Given the description of an element on the screen output the (x, y) to click on. 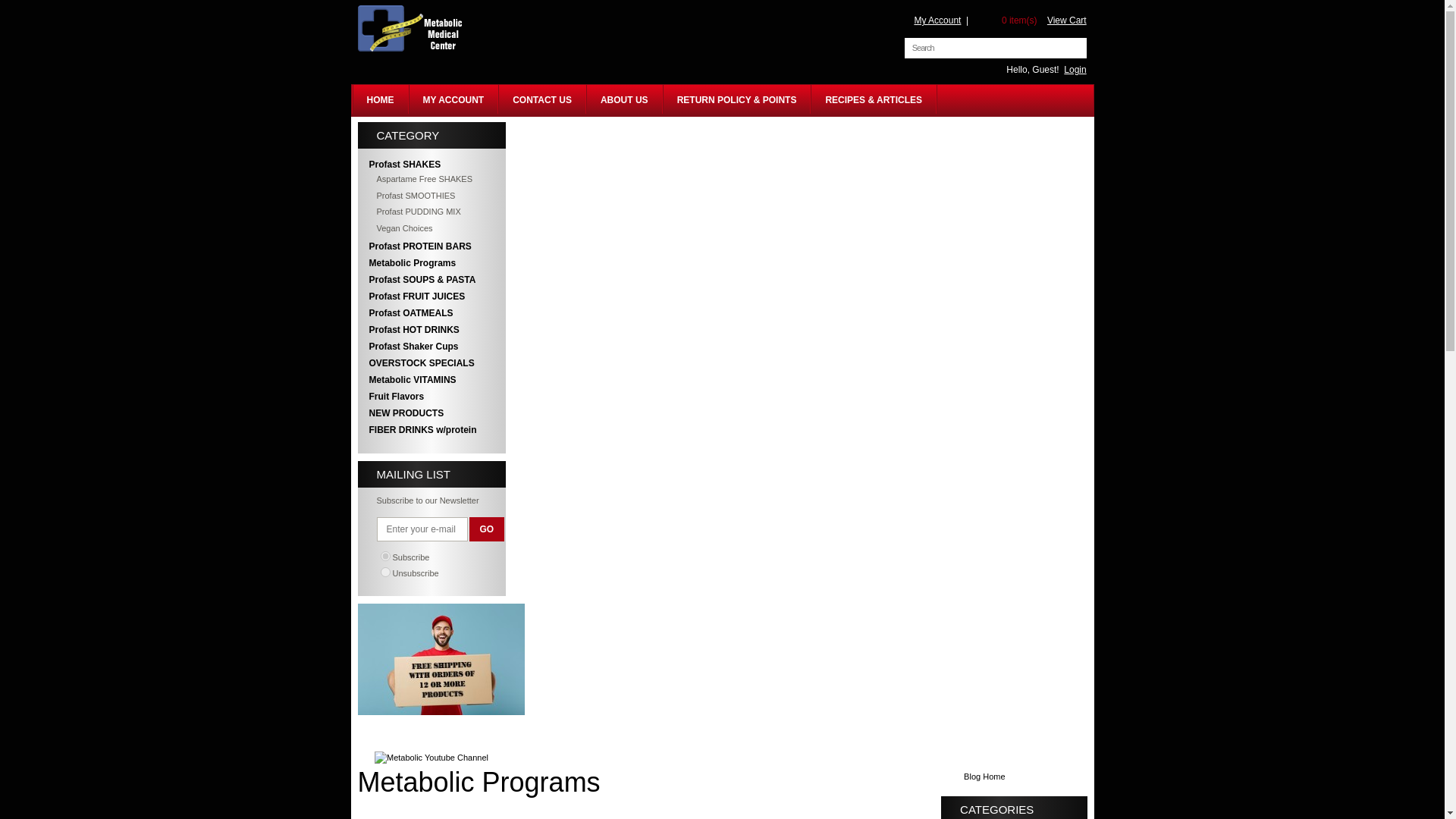
OVERSTOCK SPECIALS (431, 362)
Login (1075, 69)
Fruit Flavors (431, 396)
Profast HOT DRINKS (431, 329)
Vegan Choices (431, 227)
Profast FRUIT JUICES (431, 296)
My Account (937, 20)
Profast SHAKES (431, 164)
home (407, 49)
0 (385, 572)
Profast OATMEALS (431, 312)
Profast Shaker Cups (431, 346)
NEW PRODUCTS (431, 412)
Metabolic Programs (431, 262)
Metabolic Programs (478, 781)
